Given the description of an element on the screen output the (x, y) to click on. 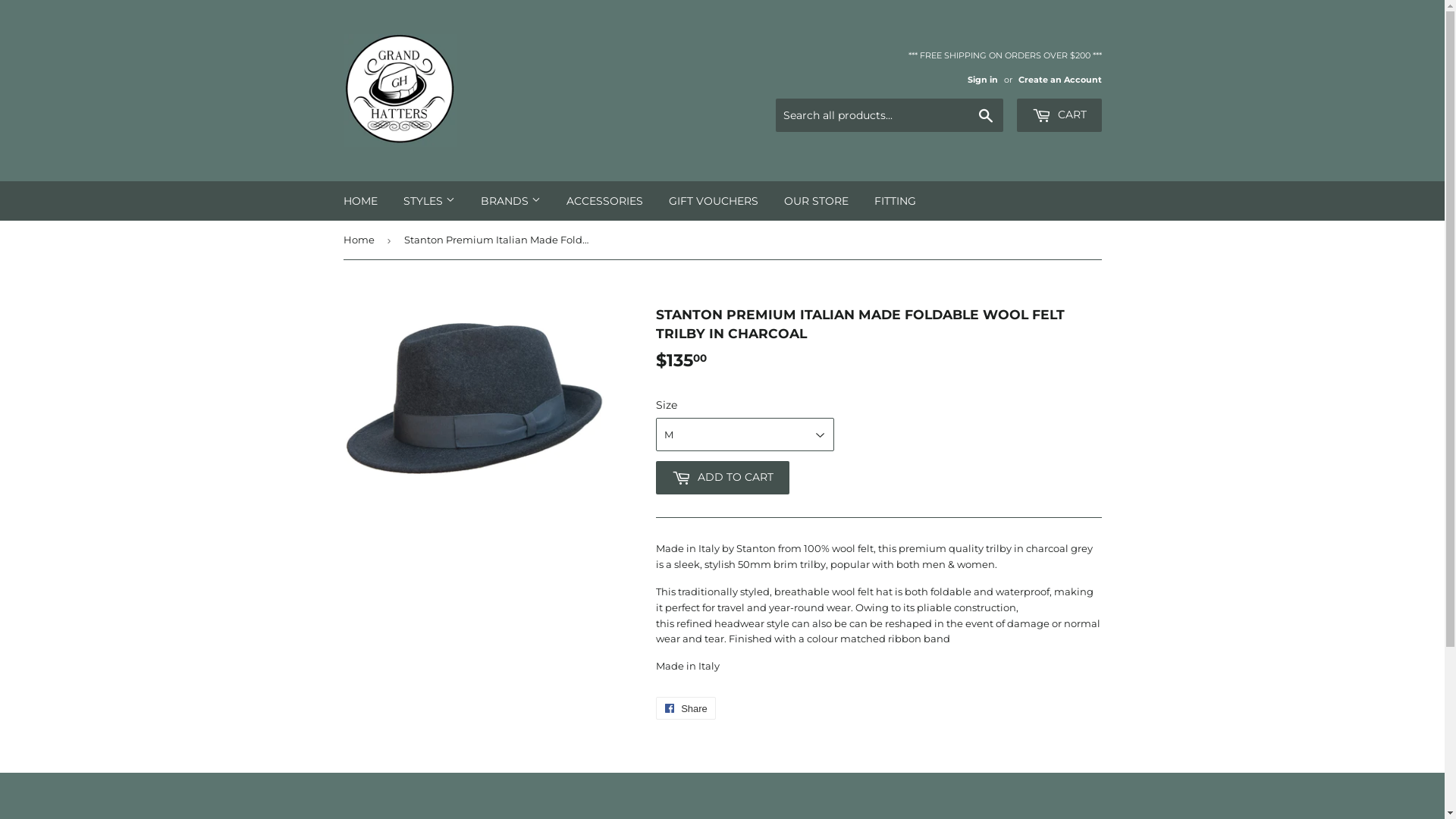
GIFT VOUCHERS Element type: text (712, 200)
Share
Share on Facebook Element type: text (685, 707)
Search Element type: text (986, 115)
BRANDS Element type: text (509, 200)
STYLES Element type: text (428, 200)
OUR STORE Element type: text (815, 200)
Create an Account Element type: text (1059, 79)
Home Element type: text (360, 239)
Sign in Element type: text (982, 79)
CART Element type: text (1058, 114)
ACCESSORIES Element type: text (604, 200)
ADD TO CART Element type: text (721, 477)
HOME Element type: text (360, 200)
FITTING Element type: text (894, 200)
